Given the description of an element on the screen output the (x, y) to click on. 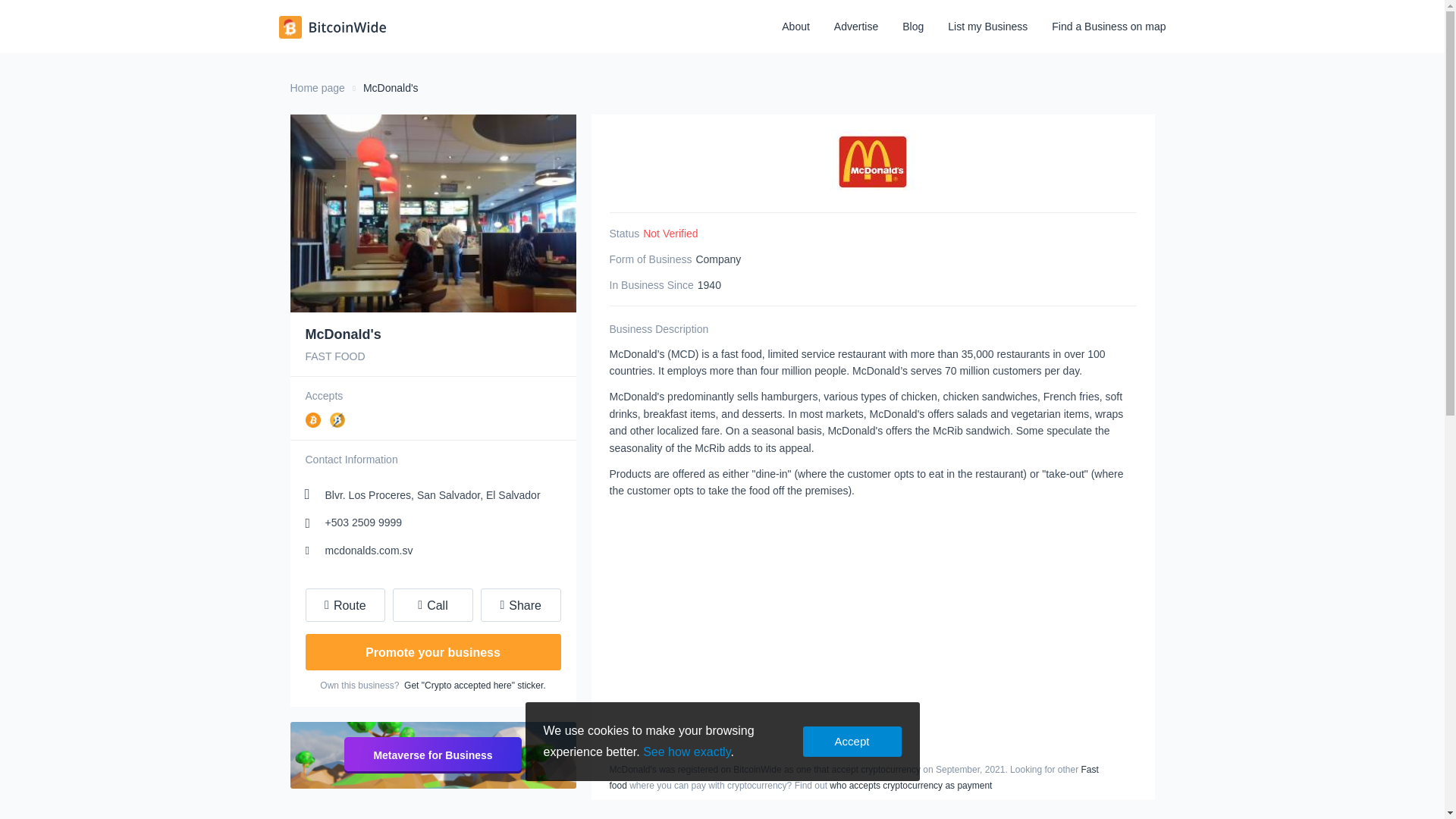
mcdonalds.com.sv (358, 550)
Get "Crypto accepted here" sticker. (475, 685)
FAST FOOD (432, 356)
Blog (912, 28)
List my Business (987, 28)
who accepts cryptocurrency as payment (910, 785)
Route (344, 604)
Fast food (854, 777)
Address information (422, 495)
Call (433, 604)
Get direction (344, 604)
Share this business (520, 604)
Metaverse for Business (432, 755)
Promote your business (432, 651)
Category (432, 356)
